Given the description of an element on the screen output the (x, y) to click on. 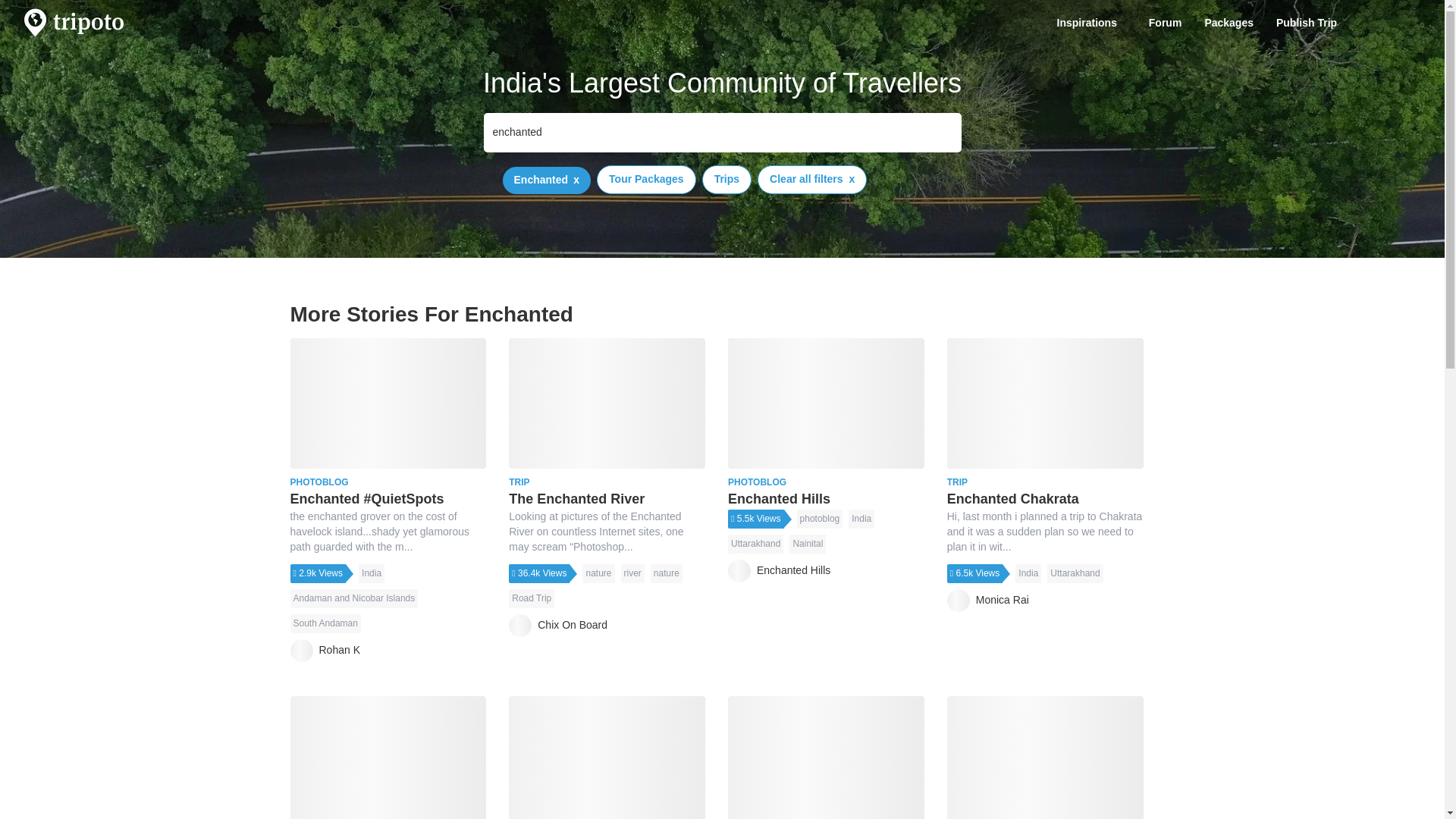
photoblog (819, 518)
Publish Trip (1310, 22)
nature (598, 573)
Rohan K (324, 650)
Andaman and Nicobar Islands (353, 598)
India (371, 573)
Publish Trip  (1310, 22)
nature (666, 573)
Forum (1165, 22)
Chix On Board (557, 625)
Road Trip (531, 598)
river (631, 573)
Inspirations (1091, 22)
Packages (1228, 22)
South Andaman (324, 623)
